Given the description of an element on the screen output the (x, y) to click on. 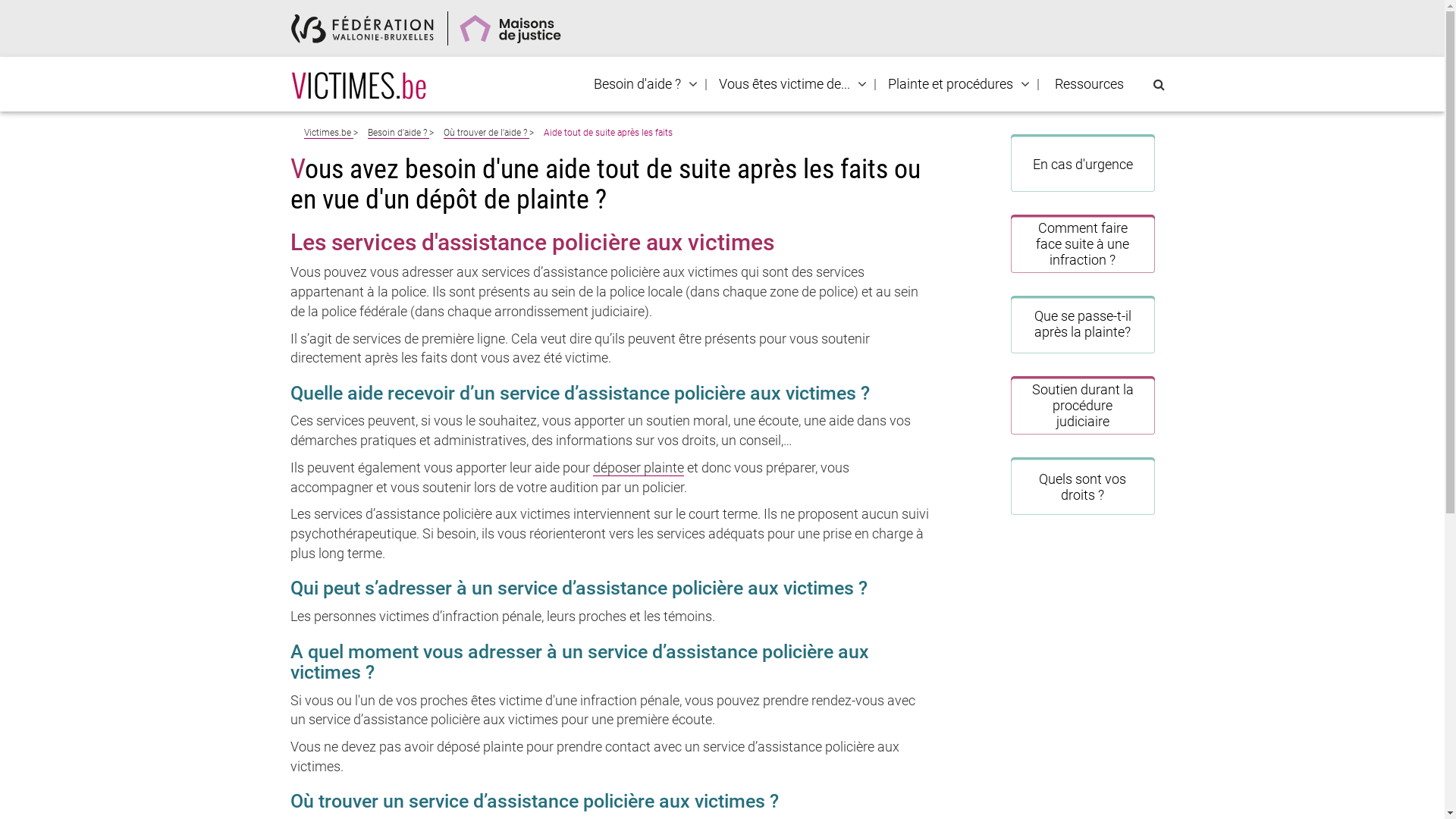
Recherche Element type: text (5, 11)
En cas d'urgence
En cas d'urgence Element type: text (1082, 162)
Victimes.be Element type: text (327, 132)
Rechercher sur le site Element type: text (1158, 84)
Besoin d'aide ? Element type: text (397, 132)
Besoin d'aide ? Element type: text (637, 84)
Quels sont vos droits ?
Quels sont vos droits ? Element type: text (1082, 485)
Ressources Element type: text (1089, 84)
